Given the description of an element on the screen output the (x, y) to click on. 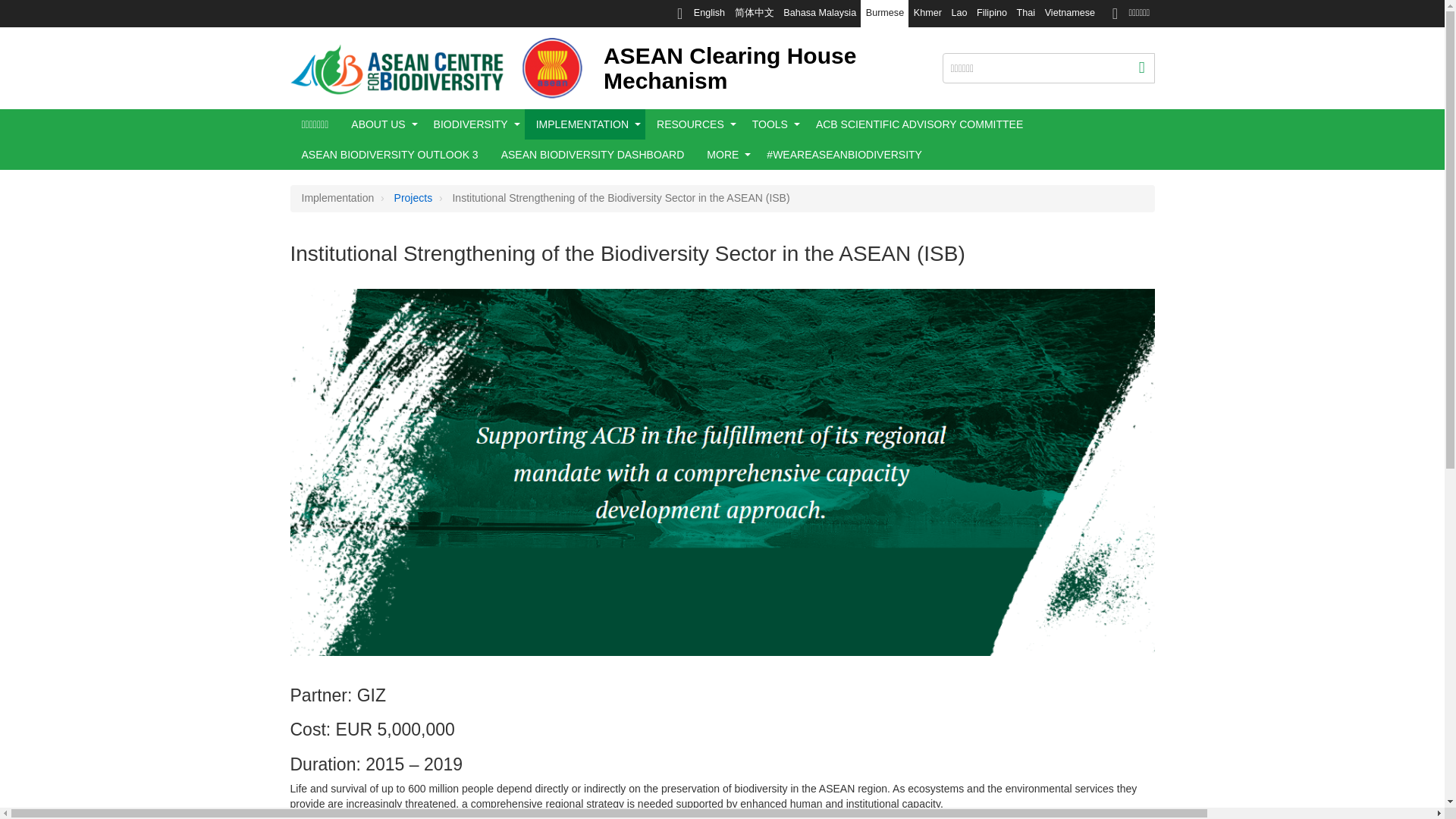
Lao (959, 13)
Bahasa Malaysia (819, 13)
Vietnamese (1069, 13)
BIODIVERSITY (470, 123)
English (708, 13)
Filipino (991, 13)
Burmese (884, 13)
Khmer (927, 13)
Thai (1025, 13)
ASEAN Clearing House Mechanism (730, 68)
ABOUT US (377, 123)
